Given the description of an element on the screen output the (x, y) to click on. 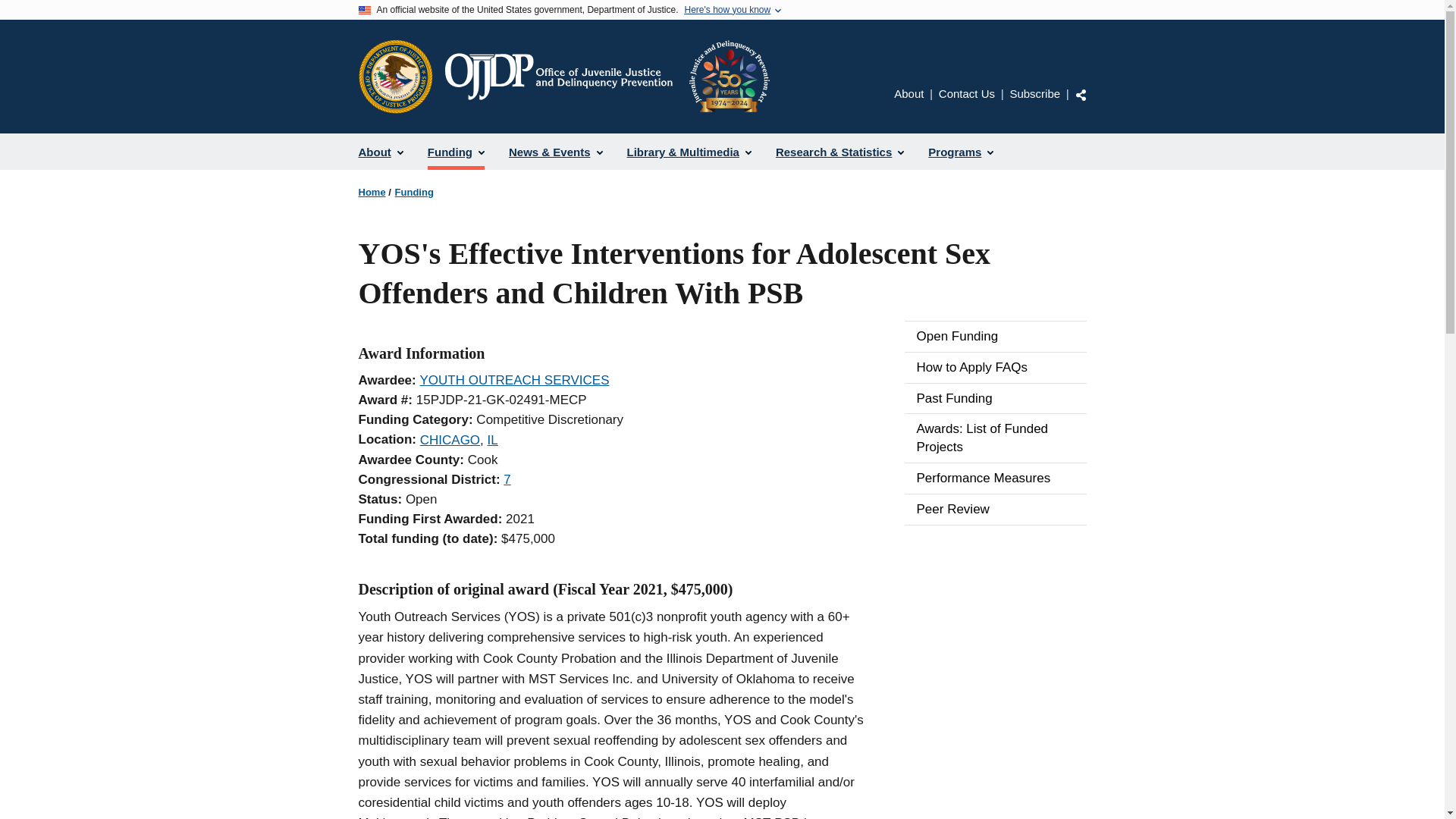
Choose a social sharing platform (1080, 94)
How to Apply FAQs (995, 367)
Home (606, 76)
YOUTH OUTREACH SERVICES (513, 380)
Funding (455, 151)
Funding (413, 192)
Home (371, 192)
Office of Justice Programs (395, 76)
Peer Review (995, 509)
About (380, 151)
Here's how you know (727, 9)
Share (1080, 94)
Open Funding (995, 336)
Past Funding (995, 399)
Subscribe (1034, 93)
